Given the description of an element on the screen output the (x, y) to click on. 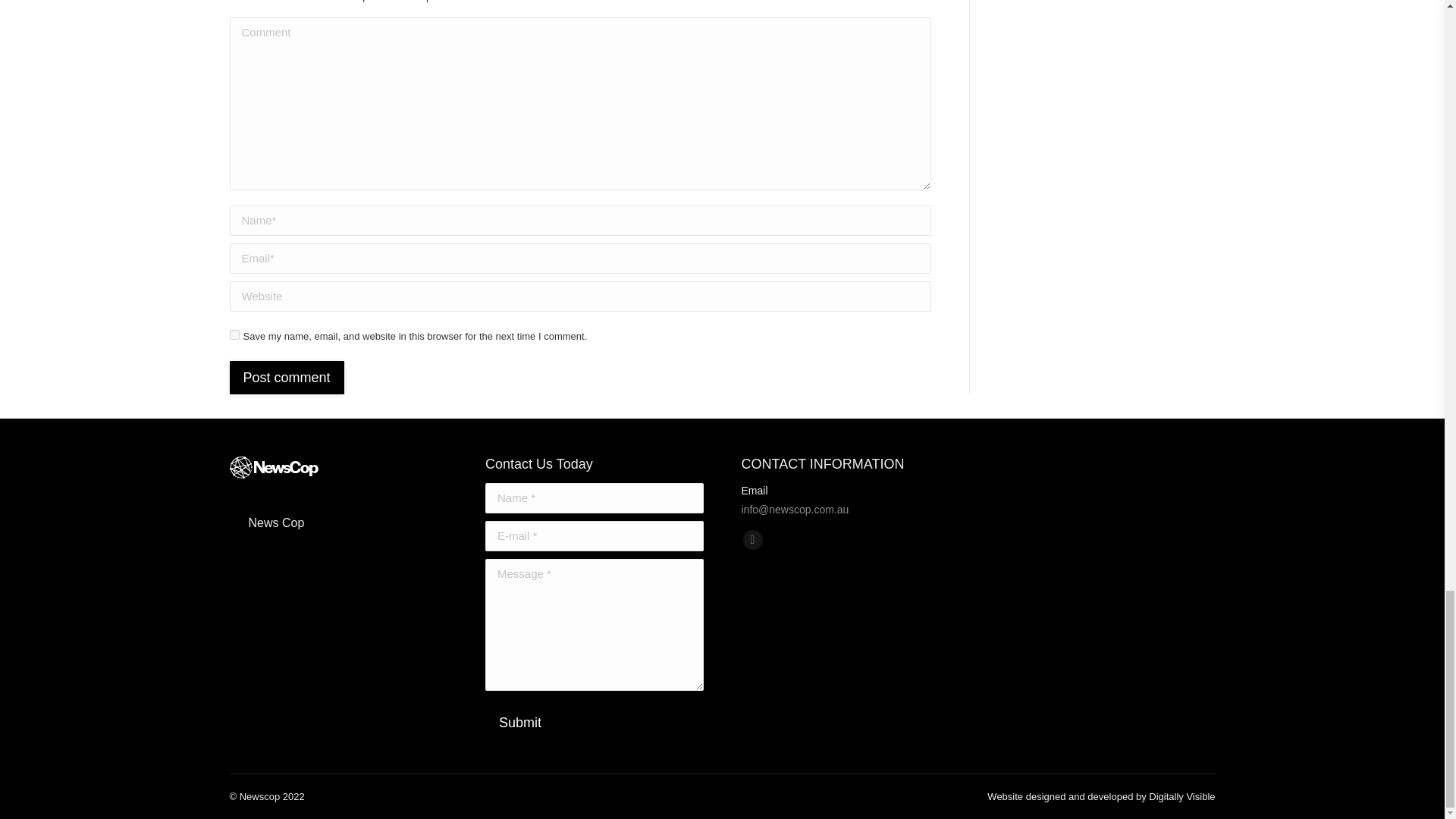
yes (233, 334)
submit (597, 723)
